Given the description of an element on the screen output the (x, y) to click on. 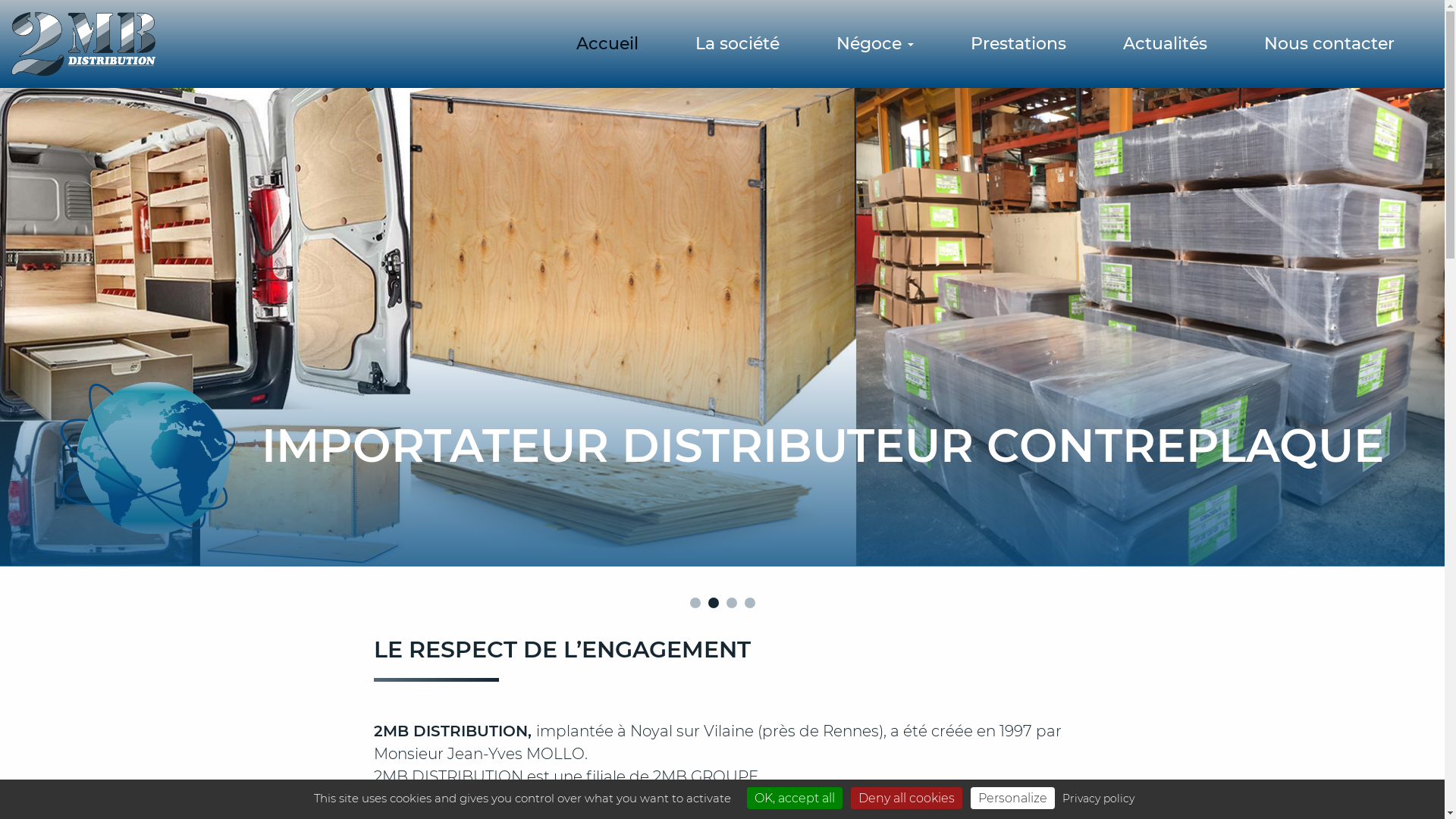
1 Element type: text (695, 602)
Privacy policy Element type: text (1097, 798)
2 Element type: text (713, 602)
Deny all cookies Element type: text (906, 798)
OK, accept all Element type: text (793, 798)
Accueil Element type: text (606, 43)
Personalize Element type: text (1012, 798)
IMPORTATEUR DISTRIBUTEUR CONTREPLAQUE Element type: text (722, 329)
Prestations Element type: text (1018, 43)
Nous contacter Element type: text (1328, 43)
4 Element type: text (749, 602)
3 Element type: text (731, 602)
